Given the description of an element on the screen output the (x, y) to click on. 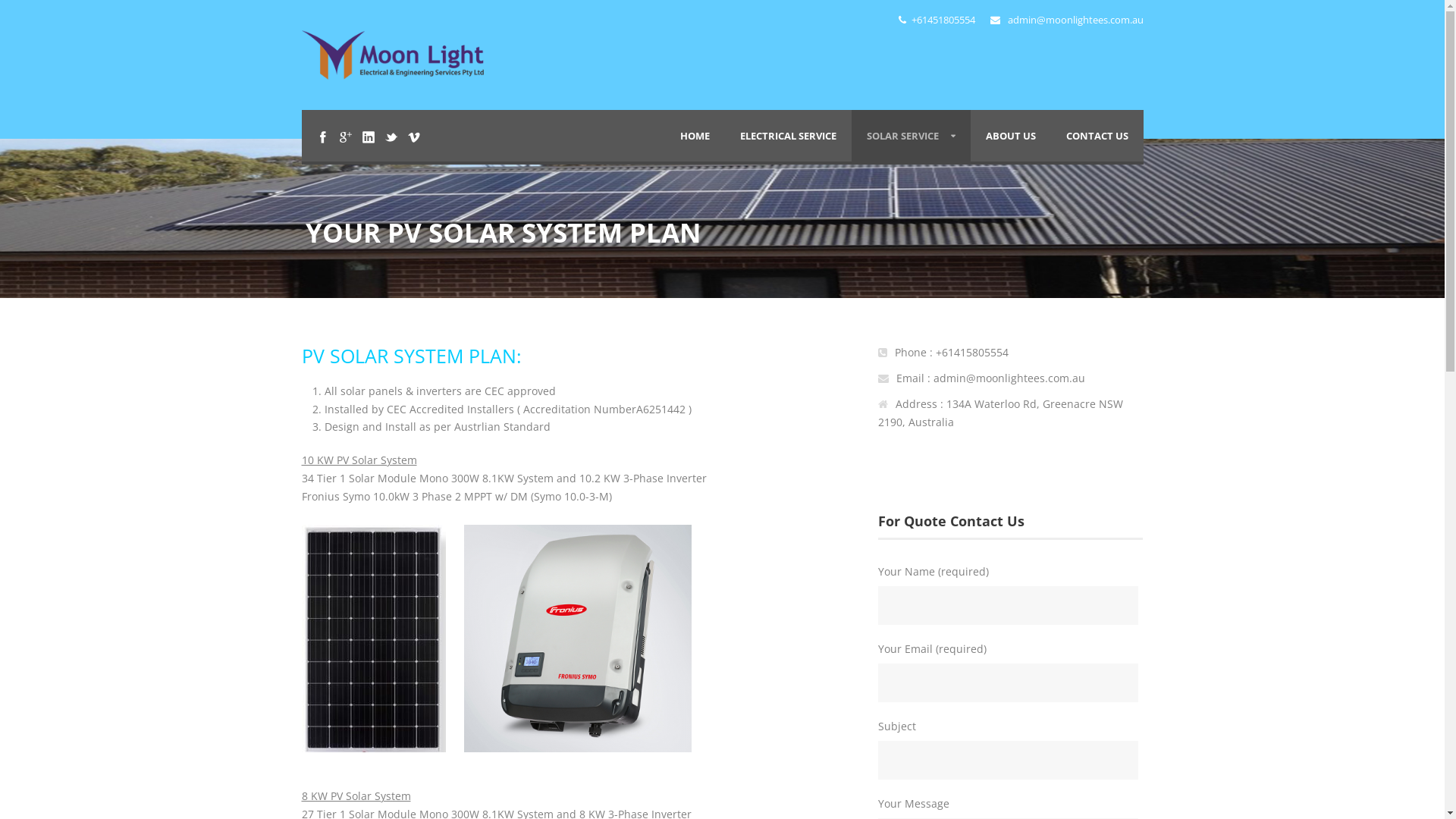
SOLAR SERVICE Element type: text (909, 135)
HOME Element type: text (694, 135)
CONTACT US Element type: text (1097, 135)
ELECTRICAL SERVICE Element type: text (787, 135)
ABOUT US Element type: text (1010, 135)
